Given the description of an element on the screen output the (x, y) to click on. 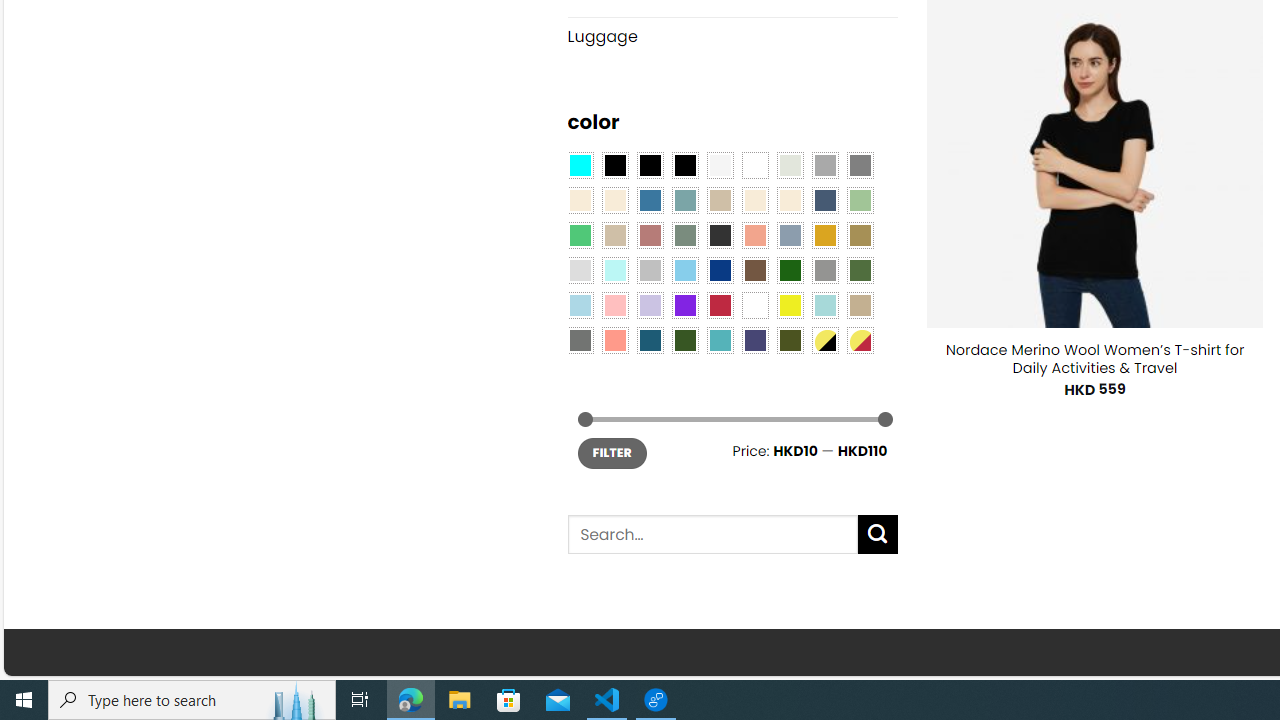
Light Gray (579, 269)
All Black (614, 164)
Purple Navy (755, 339)
Peach Pink (614, 339)
Teal (719, 339)
Clear (755, 164)
Green (859, 269)
Black-Brown (684, 164)
Charcoal (719, 234)
Dark Gray (824, 164)
Blue Sage (684, 200)
Emerald Green (579, 234)
Sky Blue (684, 269)
Yellow-Black (824, 339)
